Given the description of an element on the screen output the (x, y) to click on. 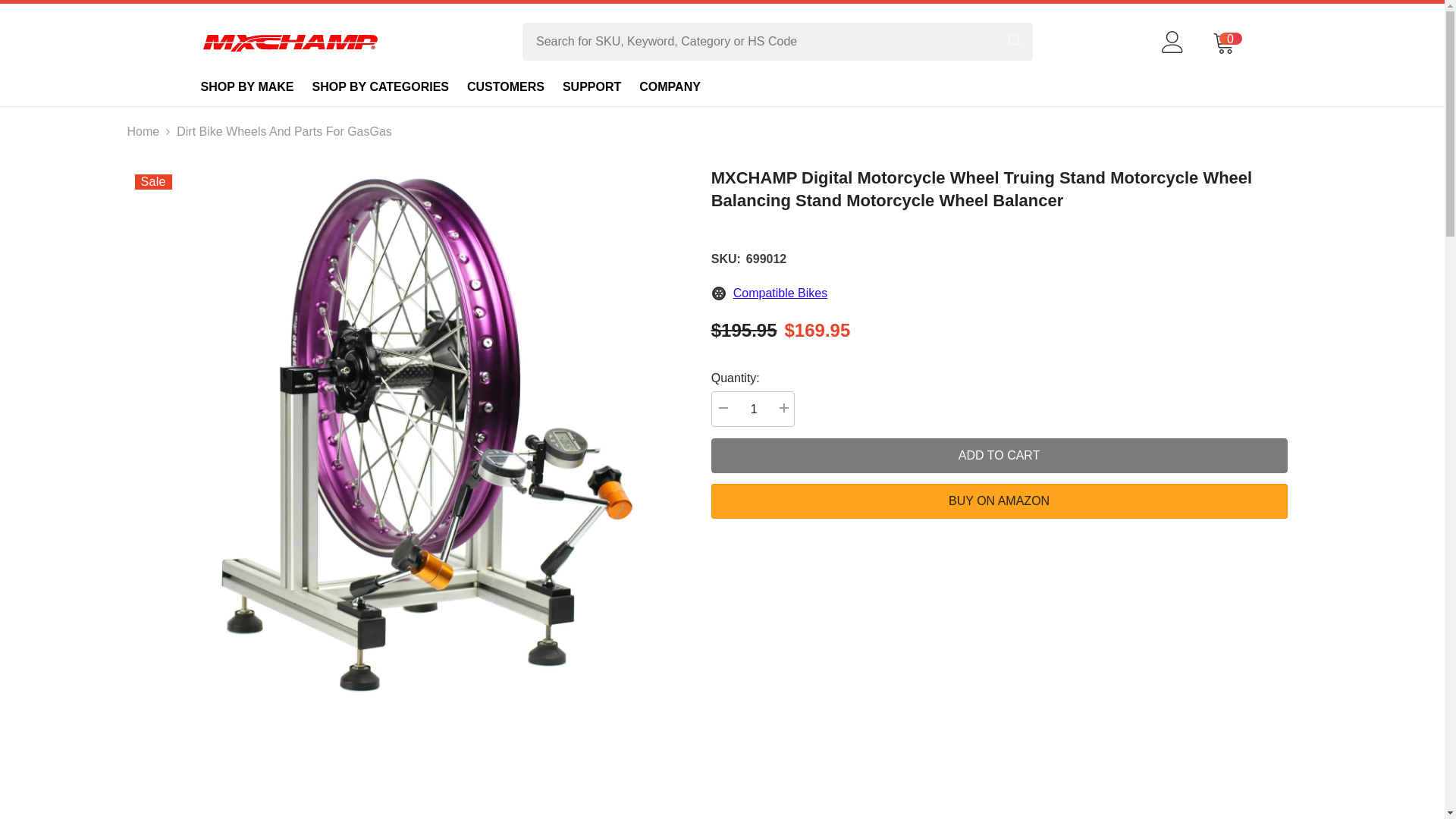
CUSTOMERS (505, 86)
SHOP BY MAKE (246, 86)
SHOP BY CATEGORIES (380, 86)
1 (752, 408)
